Given the description of an element on the screen output the (x, y) to click on. 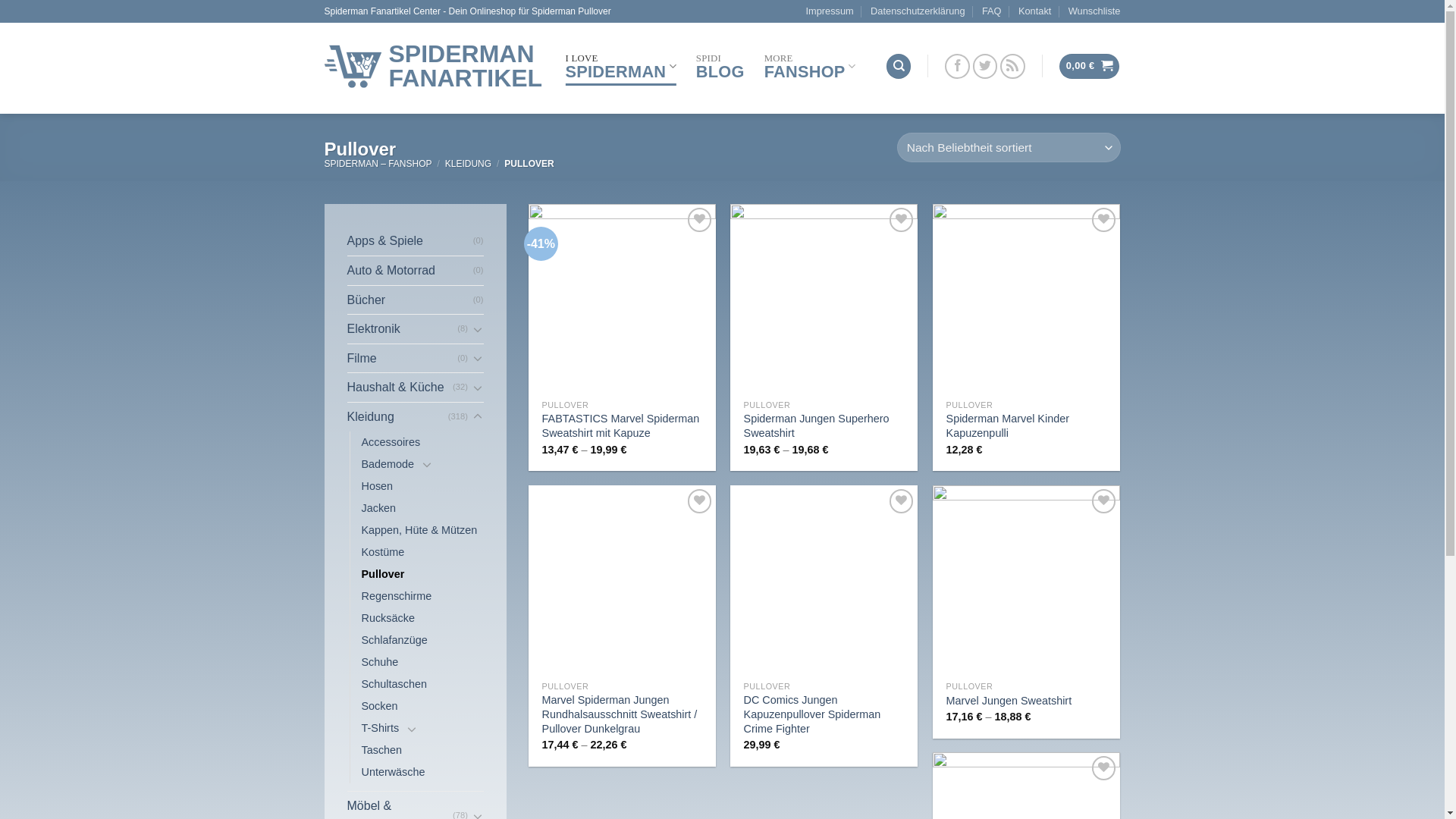
Taschen Element type: text (380, 750)
Marvel Jungen Sweatshirt Element type: text (1009, 700)
Spiderman Jungen Superhero Sweatshirt Element type: text (824, 425)
Wunschliste Element type: text (1094, 11)
KLEIDUNG Element type: text (468, 163)
FABTASTICS Marvel Spiderman Sweatshirt mit Kapuze Element type: text (622, 425)
MORE
FANSHOP Element type: text (809, 65)
T-Shirts Element type: text (379, 728)
DC Comics Jungen Kapuzenpullover Spiderman Crime Fighter Element type: text (824, 714)
SPIDERMAN FANARTIKEL Element type: text (433, 65)
Auto & Motorrad Element type: text (410, 270)
Schultaschen Element type: text (393, 684)
Pullover Element type: text (382, 574)
Schuhe Element type: text (379, 662)
Kontakt Element type: text (1034, 11)
FAQ Element type: text (991, 11)
Hosen Element type: text (376, 486)
Spiderman Marvel Kinder Kapuzenpulli Element type: text (1026, 425)
Kleidung Element type: text (397, 416)
I LOVE
SPIDERMAN Element type: text (620, 65)
Impressum Element type: text (829, 11)
SPIDI
BLOG Element type: text (720, 65)
Filme Element type: text (402, 358)
Accessoires Element type: text (390, 442)
Apps & Spiele Element type: text (410, 240)
Jacken Element type: text (377, 508)
Bademode Element type: text (387, 464)
Regenschirme Element type: text (395, 596)
Elektronik Element type: text (402, 328)
Socken Element type: text (378, 706)
